Given the description of an element on the screen output the (x, y) to click on. 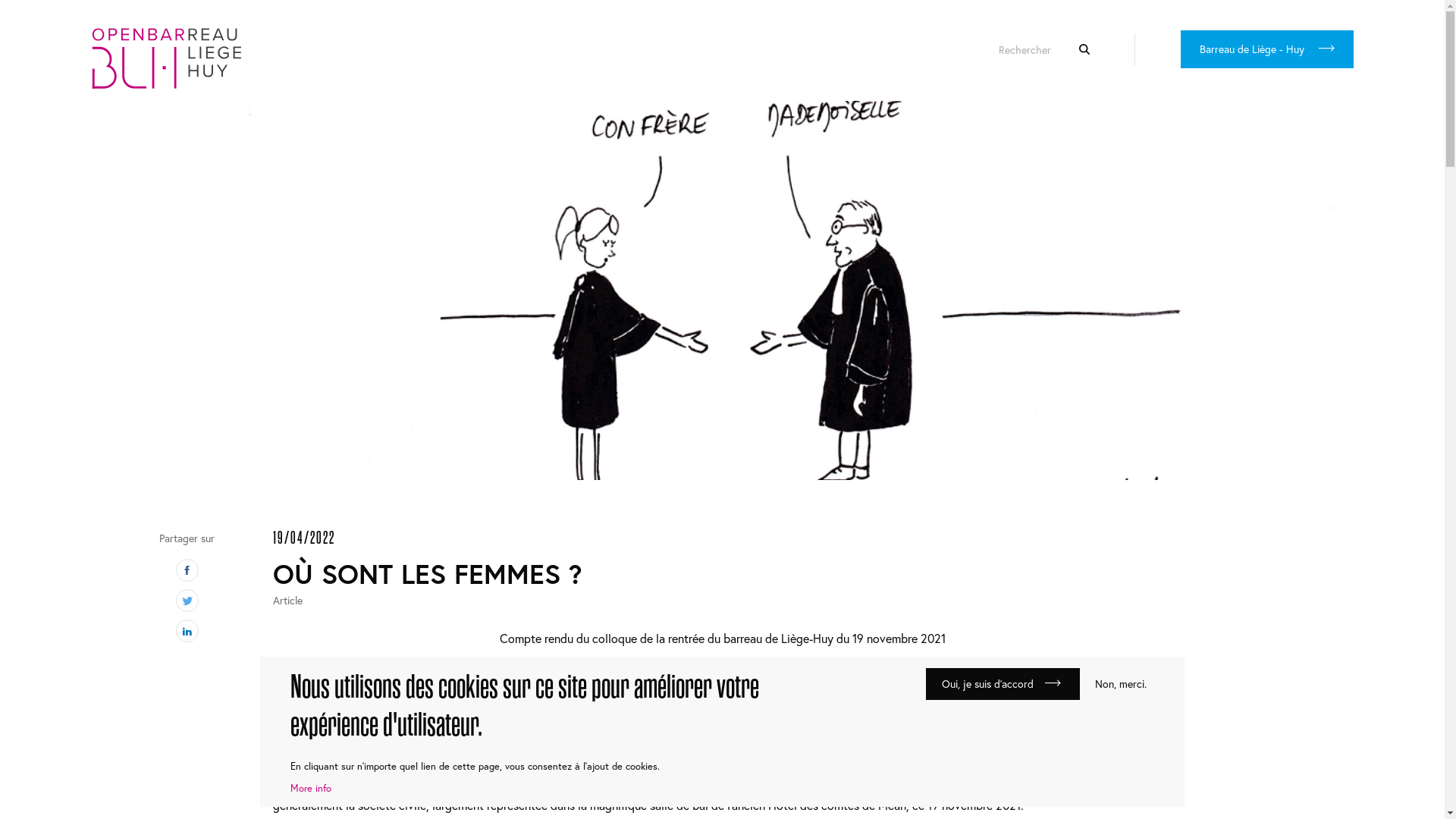
Facebook share Element type: text (186, 569)
Aller au contenu principal Element type: text (0, 100)
Apply Element type: text (1084, 48)
LinkedIn Element type: text (186, 630)
Oui, je suis d'accord Element type: text (1002, 683)
Non, merci. Element type: text (1116, 683)
Twitter Element type: text (186, 600)
More info Element type: text (310, 788)
